Given the description of an element on the screen output the (x, y) to click on. 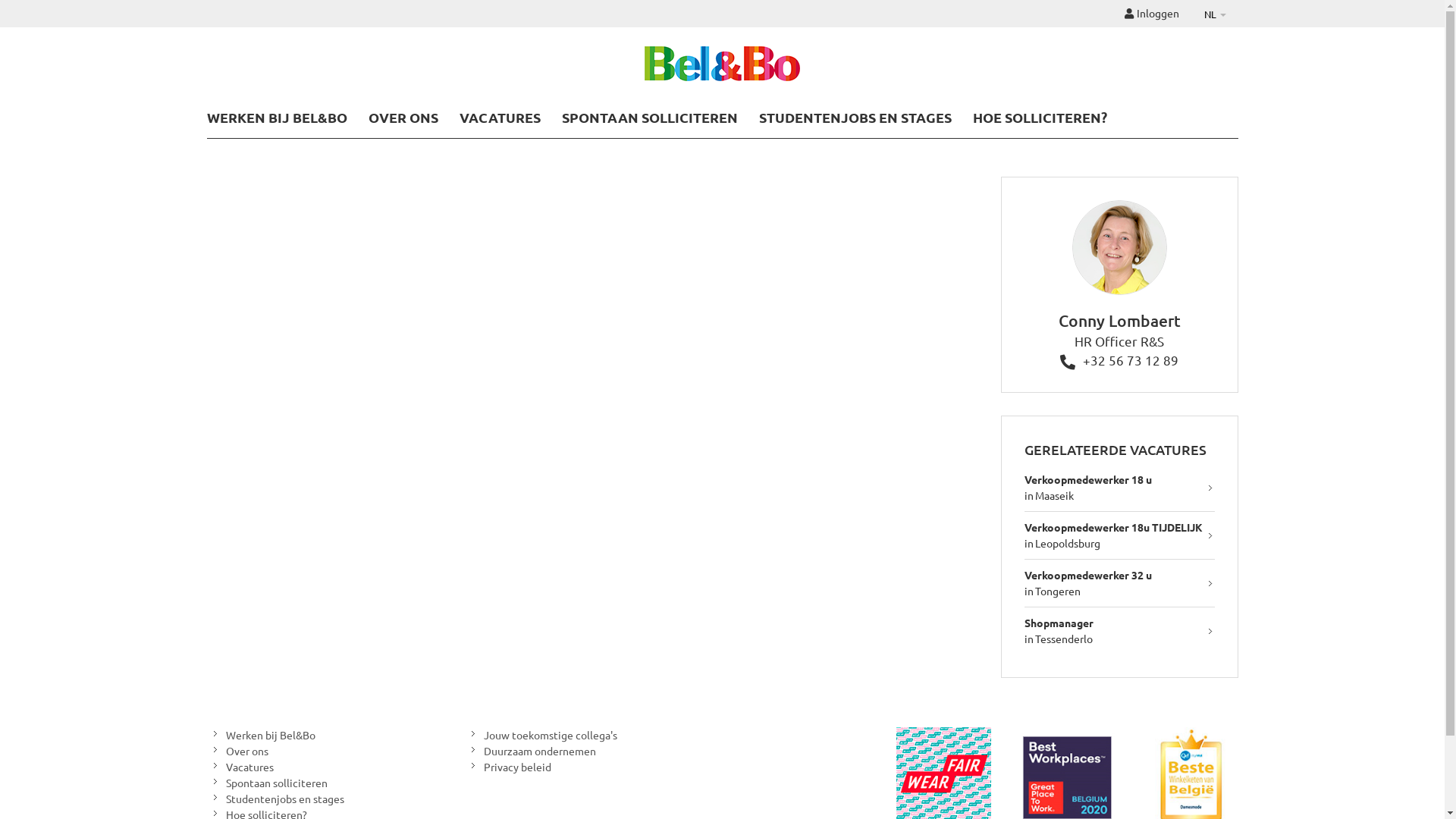
Vacatures Element type: text (239, 767)
OVER ONS Element type: text (403, 116)
VACATURES Element type: text (499, 116)
Details... Element type: hover (1119, 301)
Shopmanager Element type: text (1058, 622)
HOE SOLLICITEREN? Element type: text (1039, 116)
Verkoopmedewerker 18 u Element type: text (1087, 479)
SPONTAAN SOLLICITEREN Element type: text (649, 116)
Studentenjobs en stages Element type: text (274, 798)
Verkoopmedewerker 32 u Element type: text (1087, 574)
Shopmanager
inTessenderlo Element type: text (1119, 630)
Jouw toekomstige collega's Element type: text (540, 735)
Werken bij Bel&Bo Element type: text (260, 735)
Verkoopmedewerker 18 u
inMaaseik Element type: text (1119, 487)
Bel&Bo Element type: hover (722, 65)
Verkoopmedewerker 32 u
inTongeren Element type: text (1119, 583)
WERKEN BIJ BEL&BO Element type: text (276, 116)
+32 56 73 12 89 Element type: text (1119, 359)
Duurzaam ondernemen Element type: text (529, 751)
Over ons Element type: text (236, 751)
STUDENTENJOBS EN STAGES Element type: text (854, 116)
Verkoopmedewerker 18u TIJDELIJK
inLeopoldsburg Element type: text (1119, 535)
Spontaan solliciteren Element type: text (266, 782)
Privacy beleid Element type: text (507, 767)
Verkoopmedewerker 18u TIJDELIJK Element type: text (1113, 526)
